Given the description of an element on the screen output the (x, y) to click on. 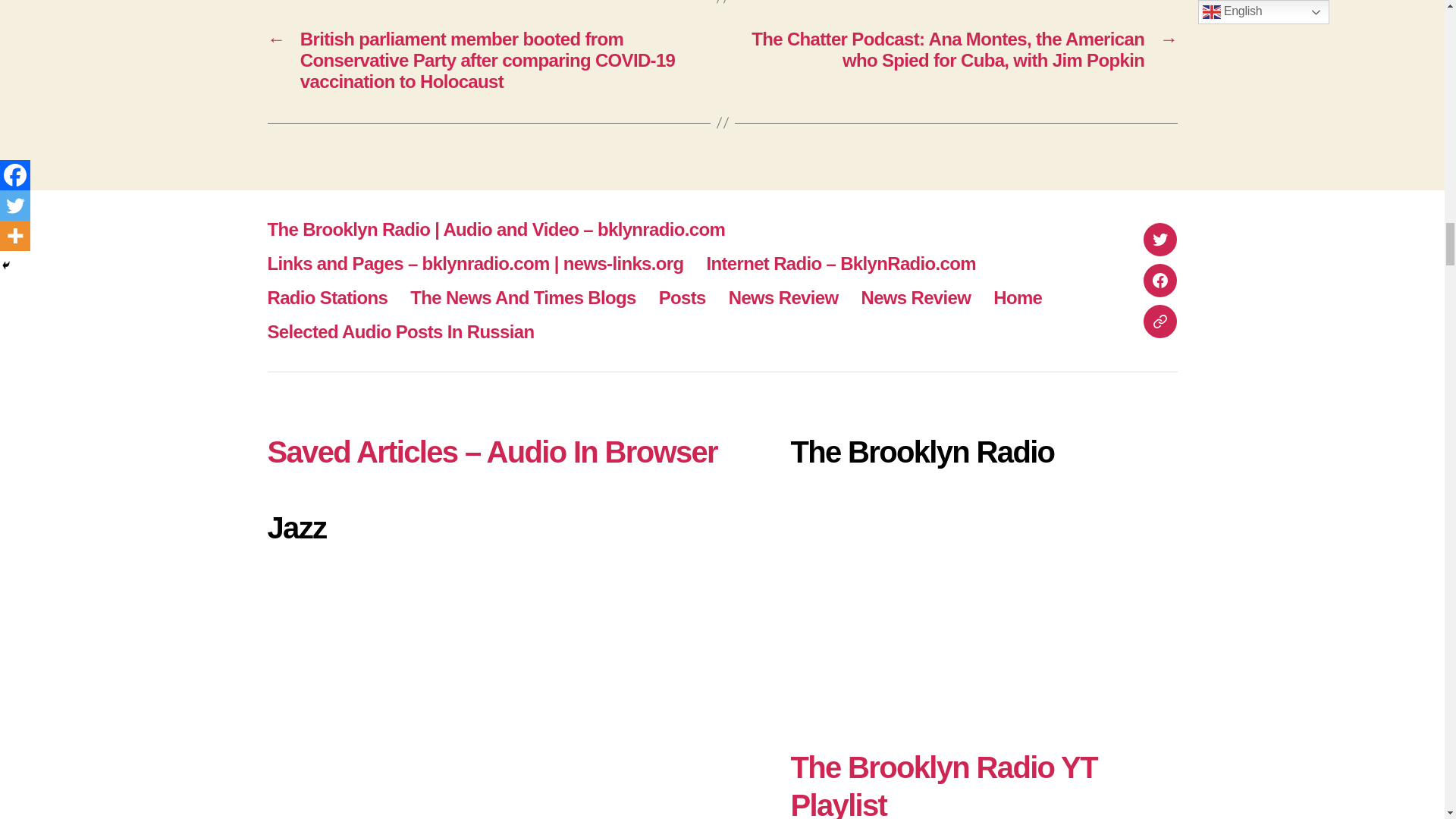
YouTube video player (505, 694)
